Given the description of an element on the screen output the (x, y) to click on. 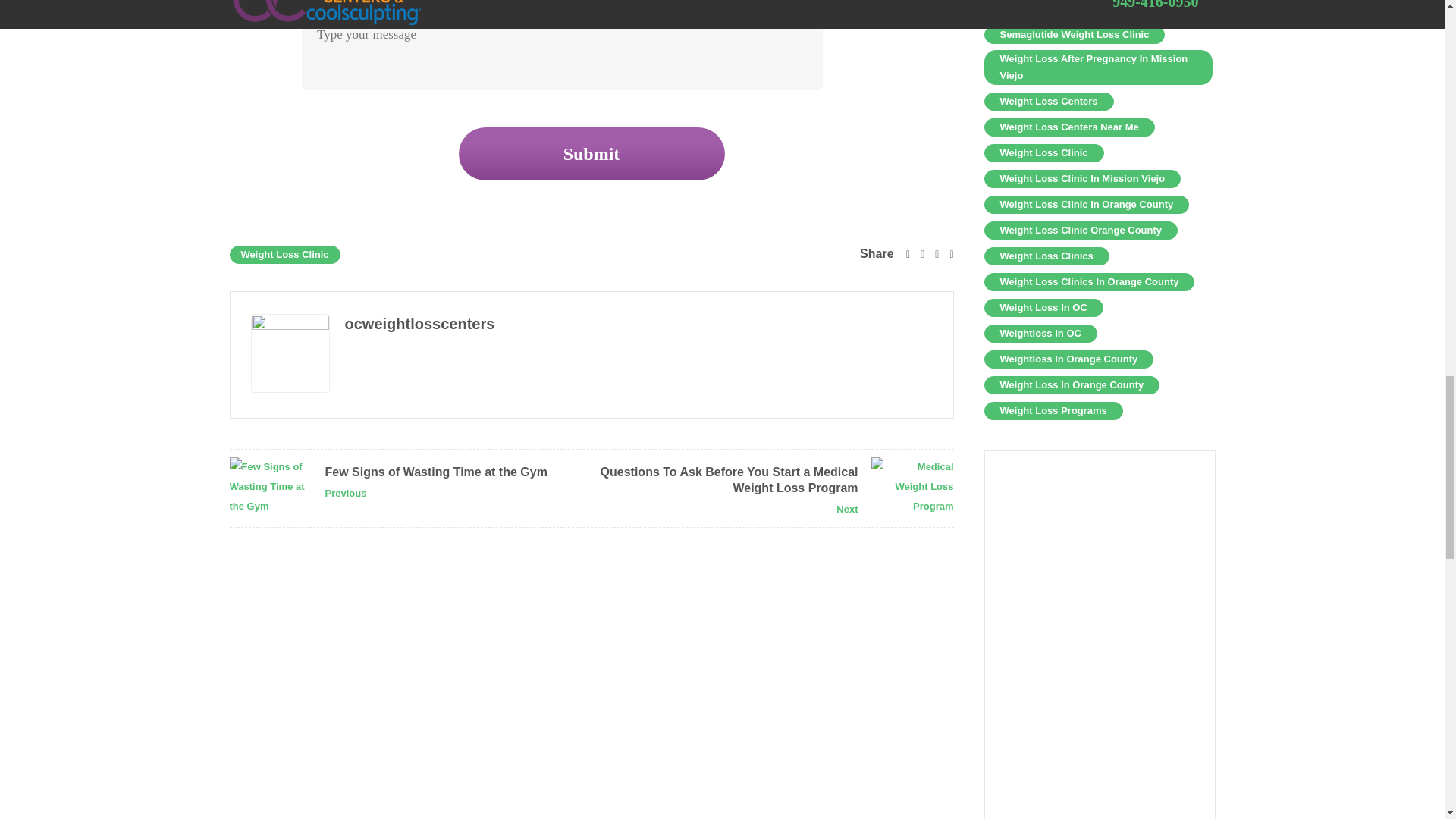
Submit (590, 153)
Medical Weight Loss Program (911, 486)
Few Signs of Wasting Time at the Gym (269, 486)
